Given the description of an element on the screen output the (x, y) to click on. 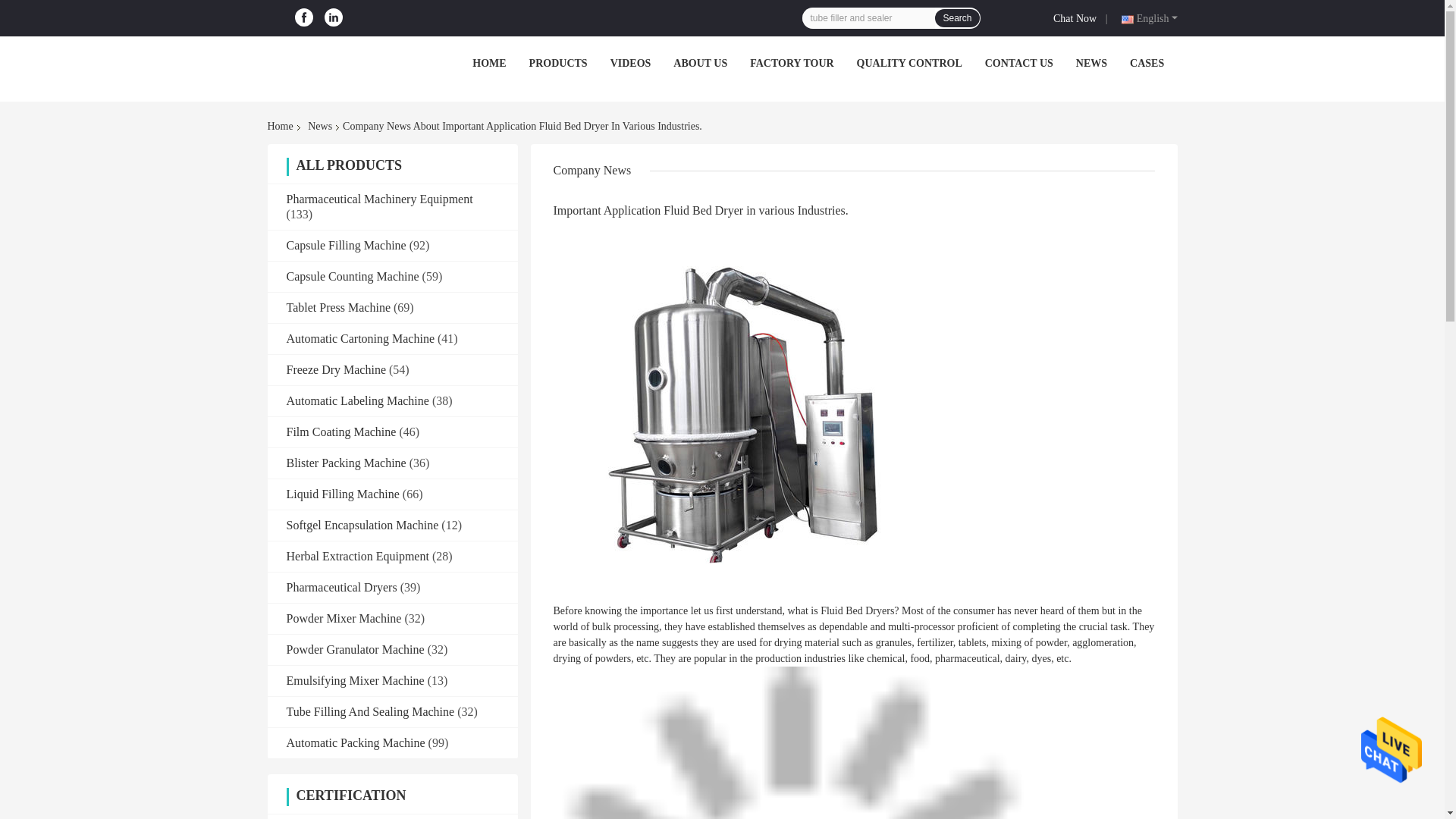
PRODUCTS (558, 62)
NEWS (1090, 62)
Hangzhou SED Pharmaceutical Machinery Co.,Ltd. LinkedIn (333, 17)
Tablet Press Machine (338, 307)
Automatic Labeling Machine (357, 400)
Home (282, 126)
FACTORY TOUR (790, 62)
Hangzhou SED Pharmaceutical Machinery Co.,Ltd. (341, 66)
News (319, 126)
Capsule Filling Machine (346, 245)
